Given the description of an element on the screen output the (x, y) to click on. 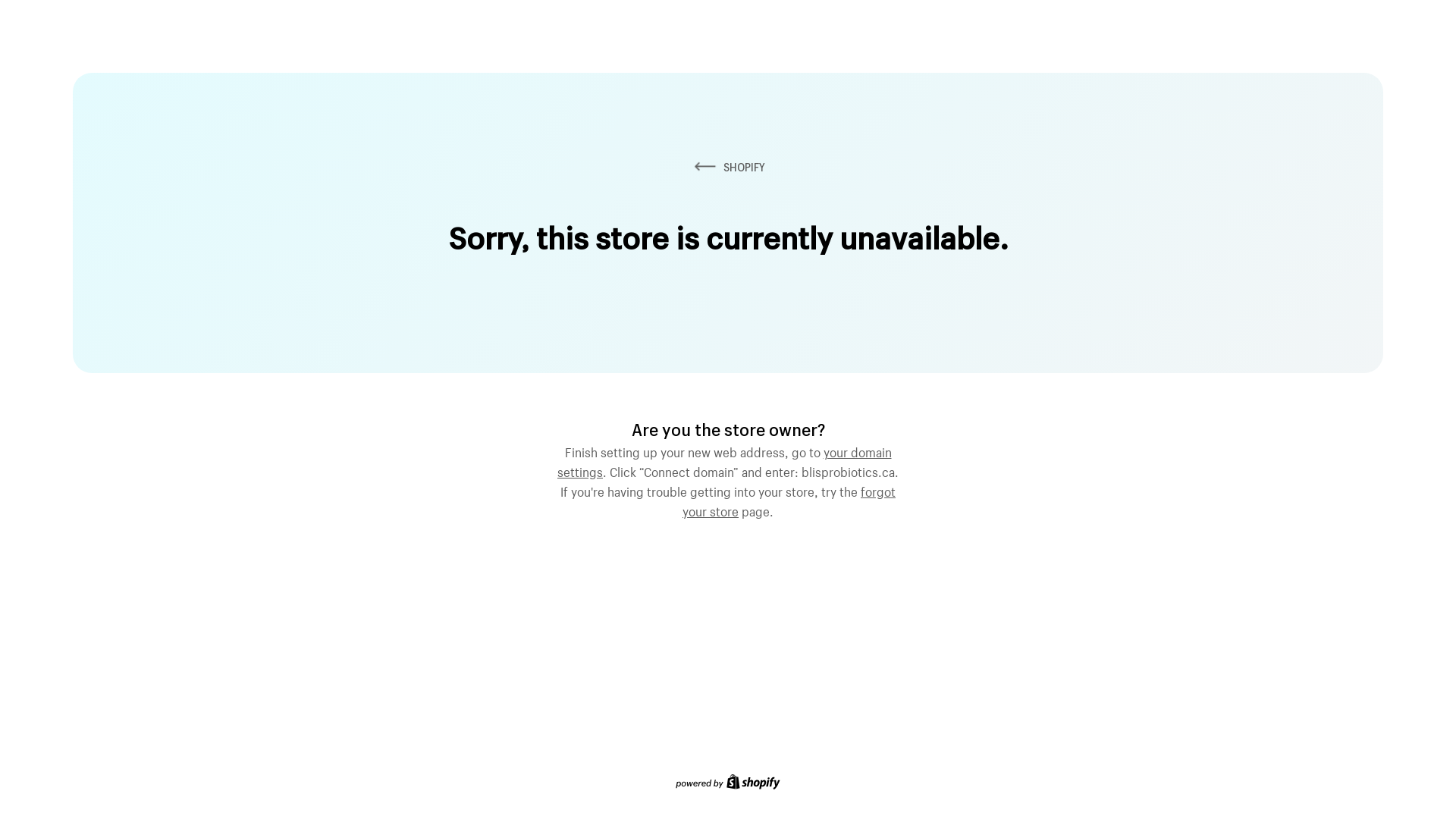
forgot your store Element type: text (788, 499)
SHOPIFY Element type: text (727, 167)
your domain settings Element type: text (724, 460)
